Given the description of an element on the screen output the (x, y) to click on. 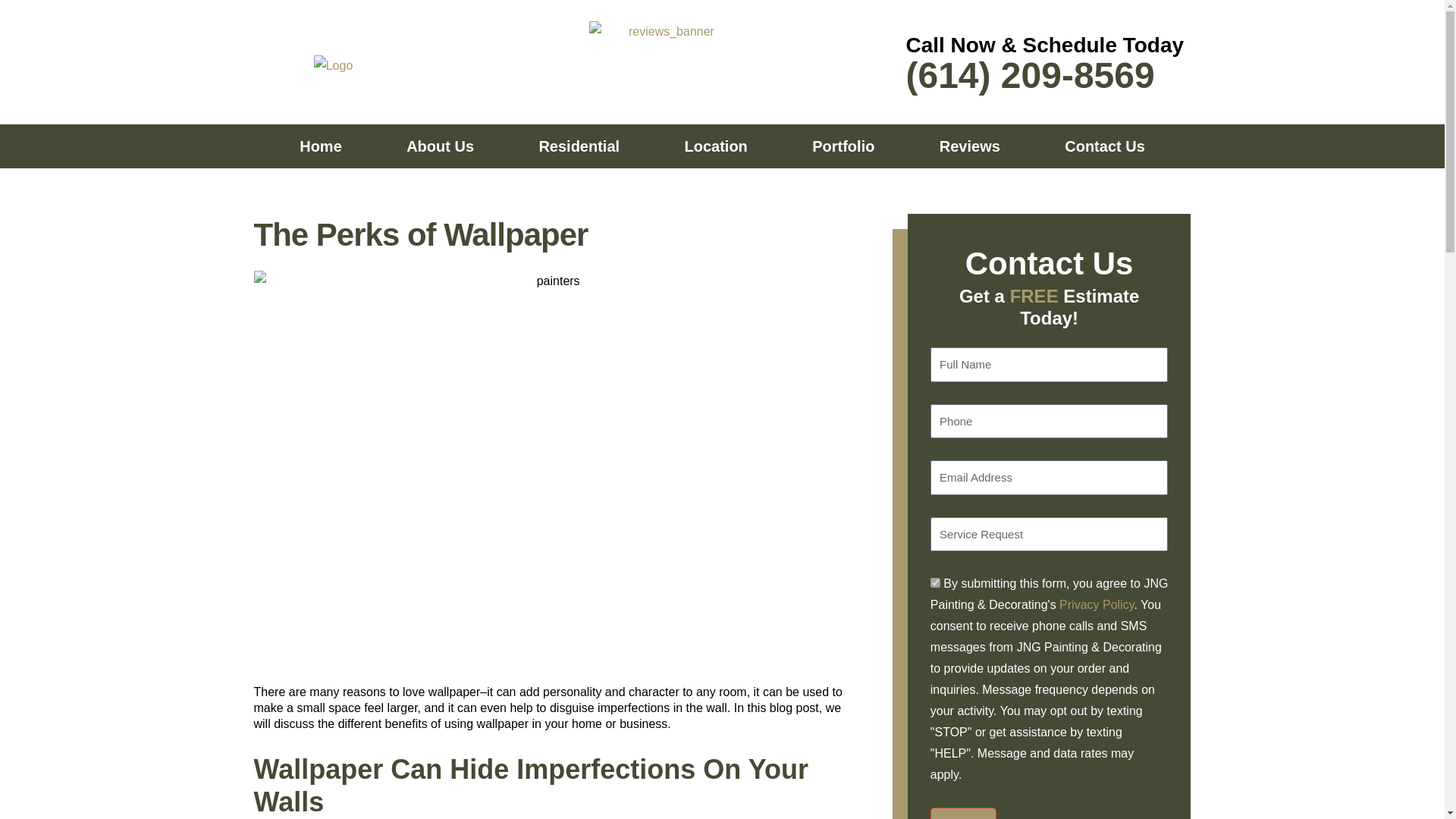
Reviews (969, 146)
Contact Us (1104, 146)
Home (320, 146)
Logo (333, 65)
About Us (439, 146)
Location (716, 146)
Residential (579, 146)
on (935, 583)
Portfolio (843, 146)
